Given the description of an element on the screen output the (x, y) to click on. 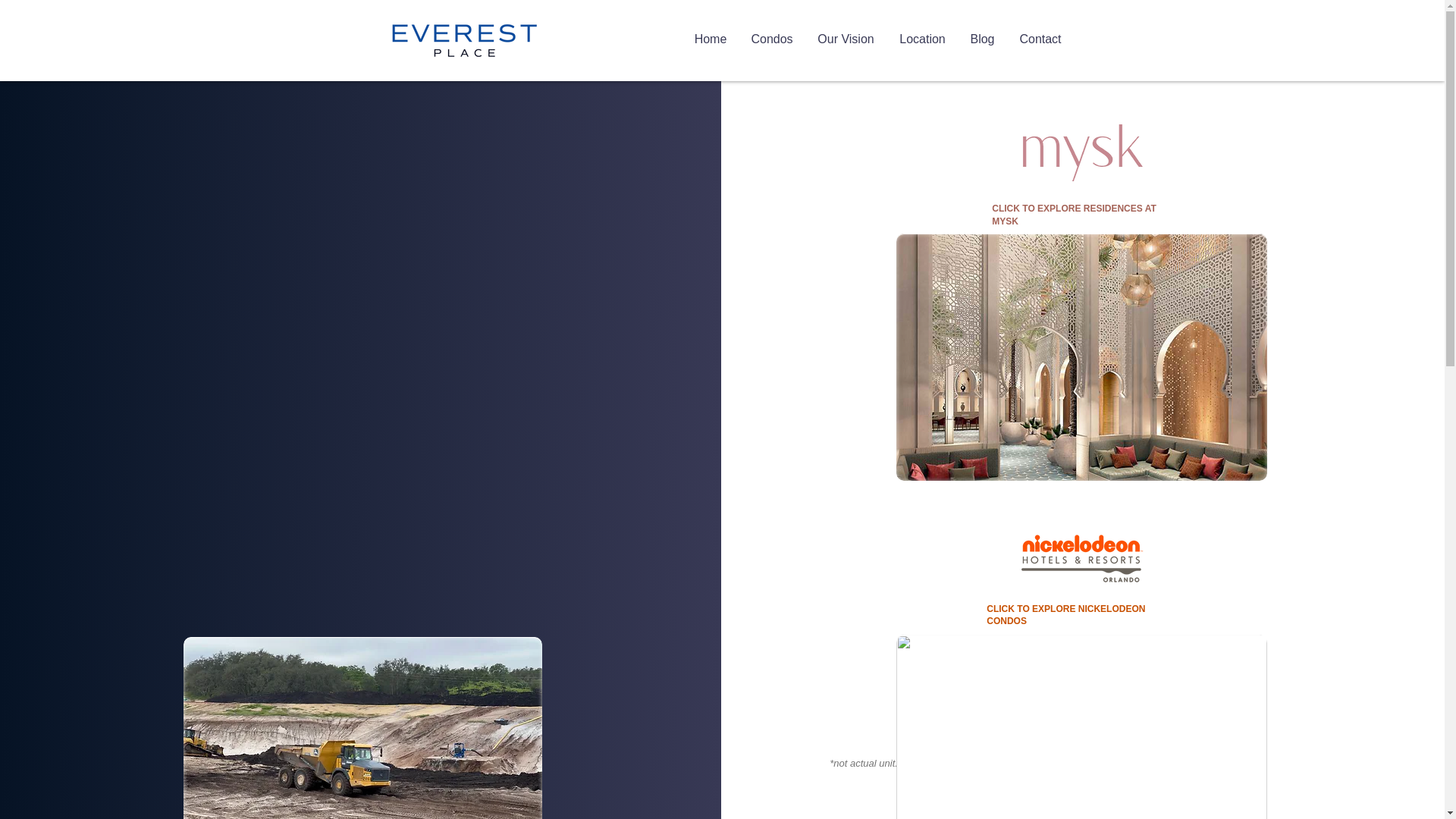
CLICK TO EXPLORE NICKELODEON CONDOS (1065, 615)
CLICK TO EXPLORE RESIDENCES AT MYSK (1073, 214)
Blog (982, 39)
Location (922, 39)
Condos (771, 39)
Contact (1040, 39)
Home (710, 39)
Our Vision (845, 39)
